Given the description of an element on the screen output the (x, y) to click on. 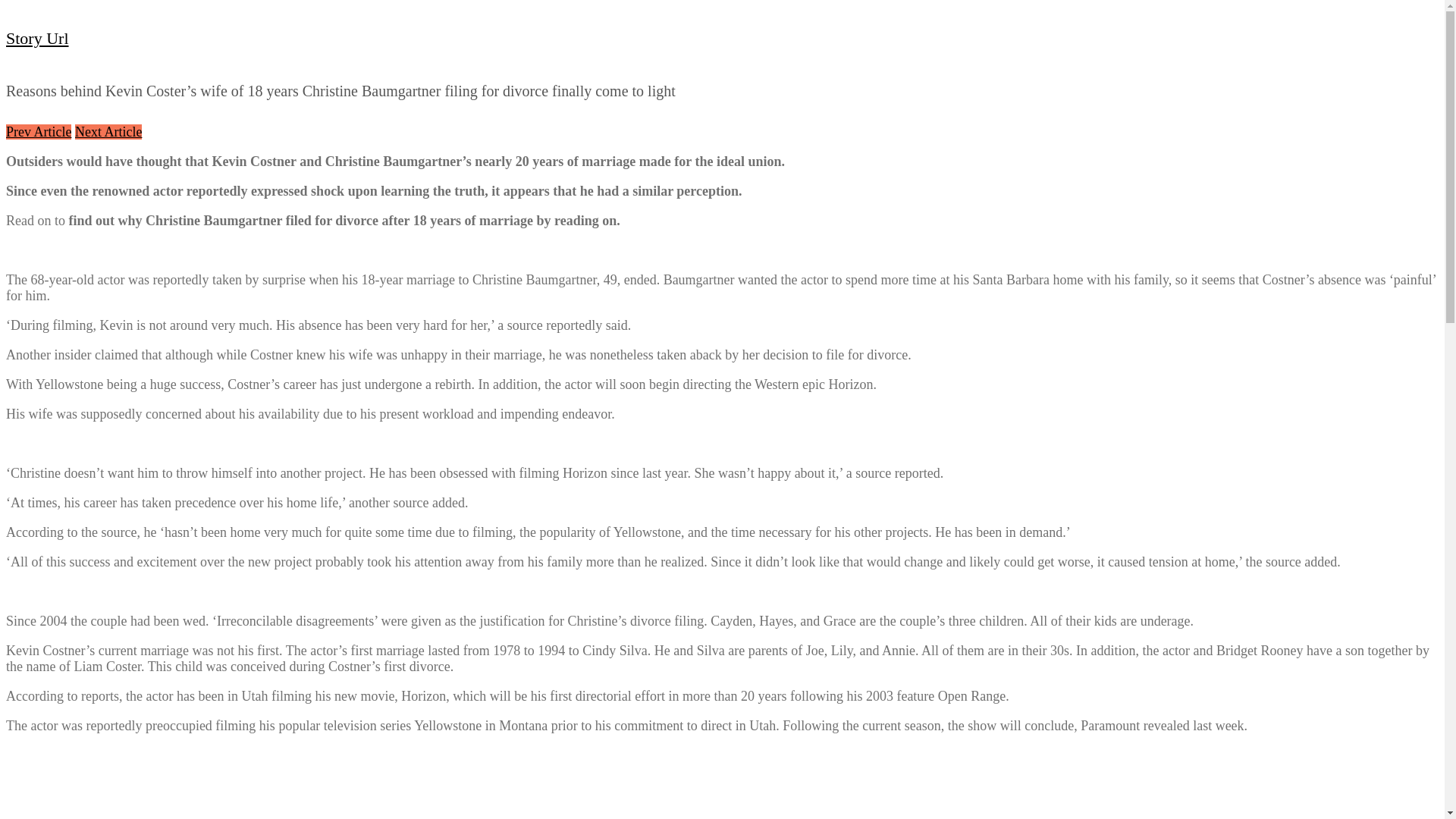
Story Url (36, 37)
Prev Article (38, 131)
Next Article (108, 131)
